Given the description of an element on the screen output the (x, y) to click on. 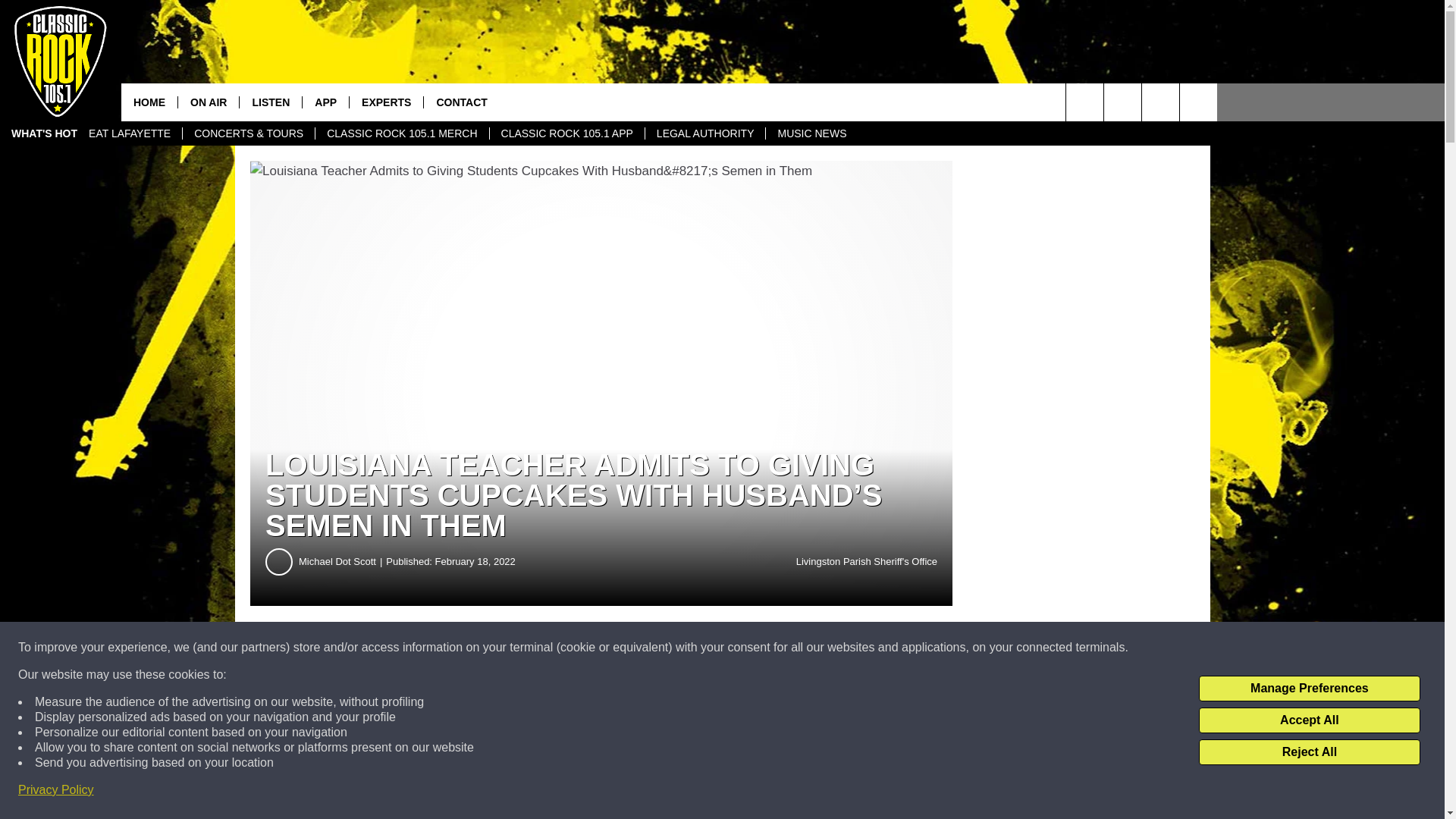
EXPERTS (386, 102)
CLASSIC ROCK 105.1 APP (567, 133)
CLASSIC ROCK 105.1 MERCH (400, 133)
MUSIC NEWS (811, 133)
LEGAL AUTHORITY (705, 133)
Share on Facebook (460, 647)
Share on Twitter (741, 647)
ON AIR (207, 102)
Accept All (1309, 720)
LISTEN (269, 102)
Manage Preferences (1309, 688)
Privacy Policy (55, 789)
APP (325, 102)
HOME (148, 102)
Reject All (1309, 751)
